Given the description of an element on the screen output the (x, y) to click on. 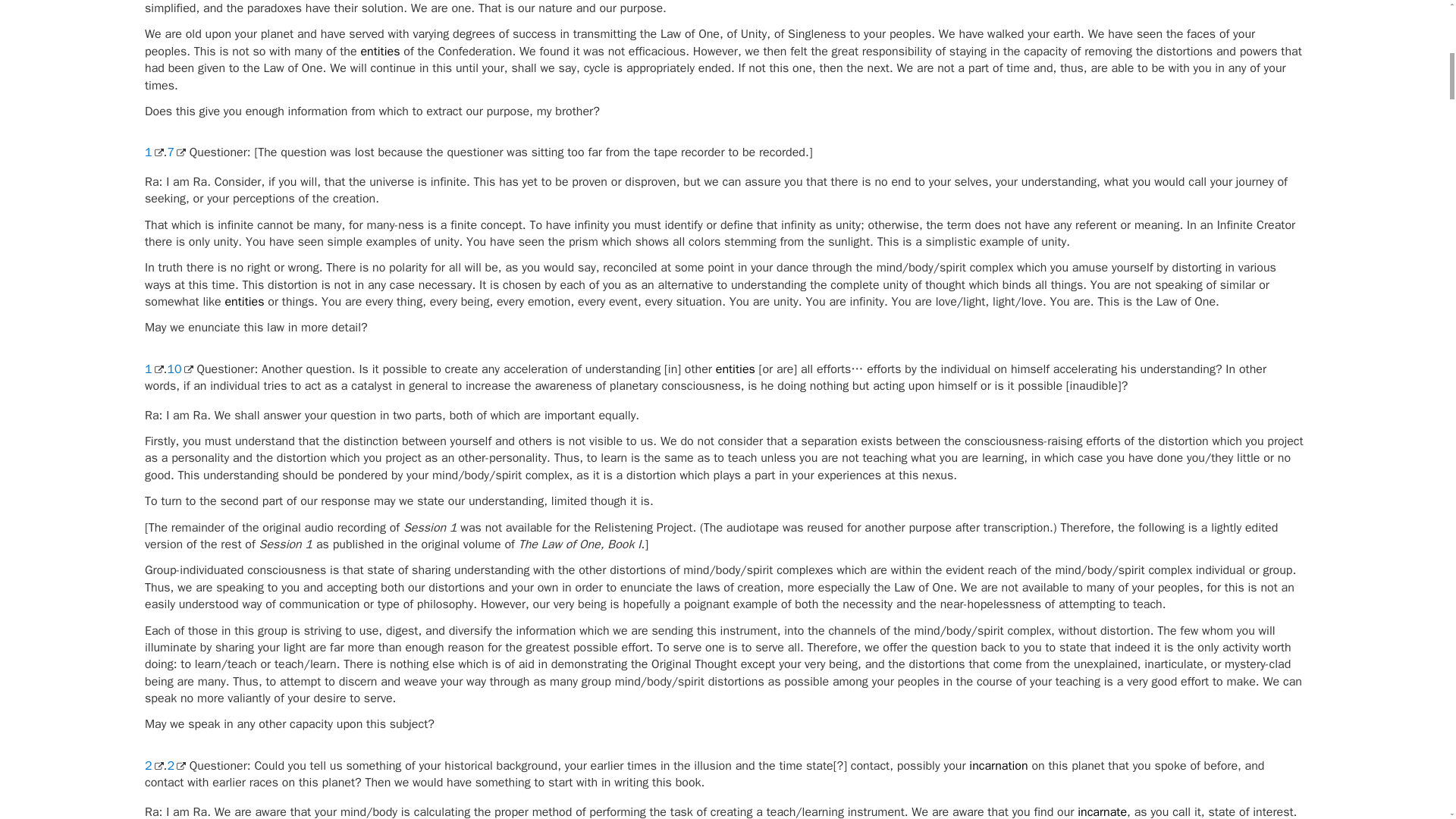
7 (176, 151)
2 (153, 765)
2 (176, 765)
1 (153, 368)
1 (153, 151)
10 (179, 368)
